Given the description of an element on the screen output the (x, y) to click on. 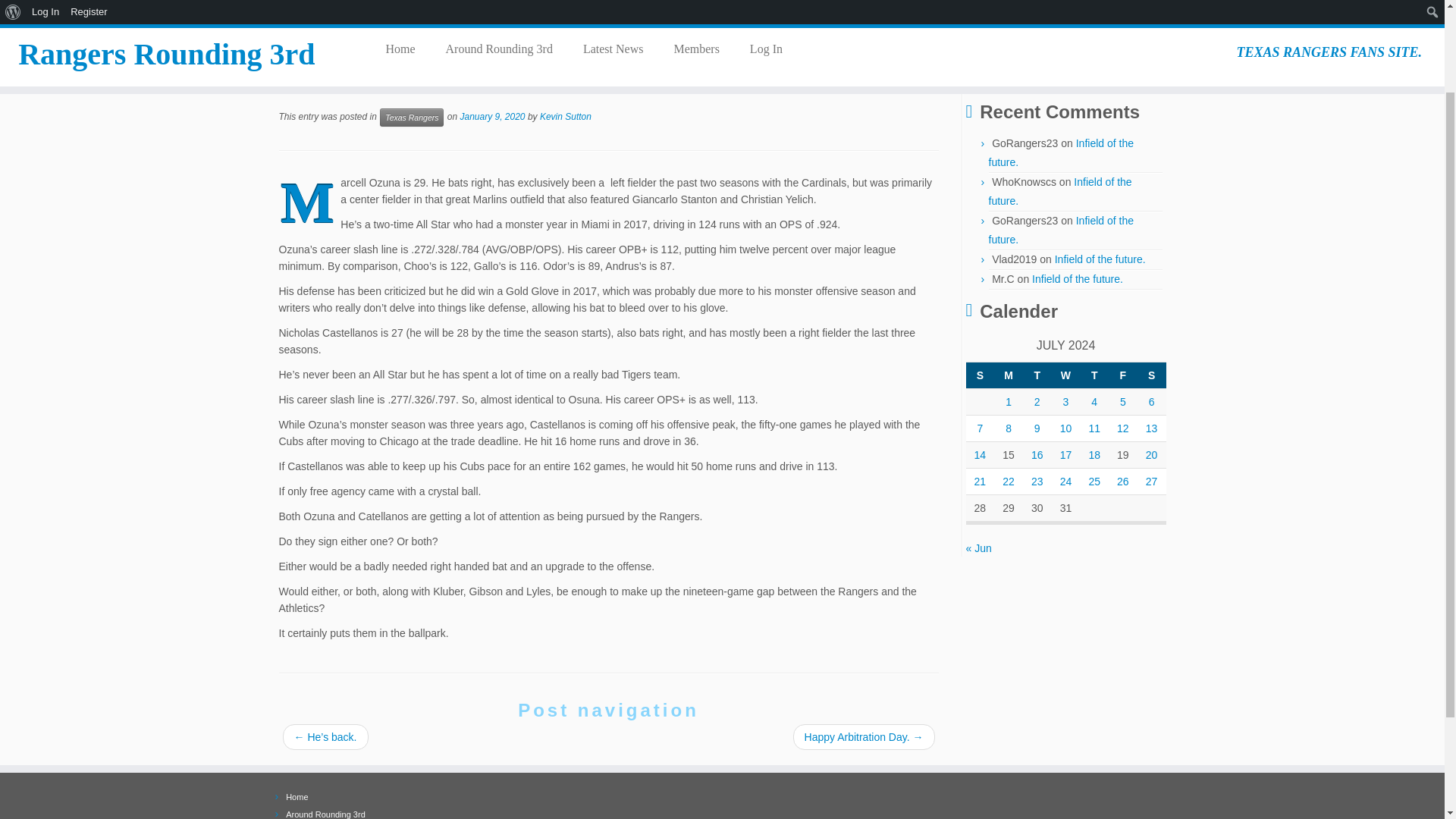
Tuesday (1037, 374)
Infield of the future. (1061, 152)
Home Page (296, 796)
Saturday (1151, 374)
11 (1093, 428)
3 (1065, 401)
Kevin Sutton (565, 116)
12 (1122, 428)
Texas Rangers (353, 38)
Texas Rangers (353, 38)
Home (293, 38)
2:49 am (492, 116)
View all posts by Kevin Sutton (565, 116)
Infield of the future. (1060, 191)
Infield of the future. (1077, 278)
